Given the description of an element on the screen output the (x, y) to click on. 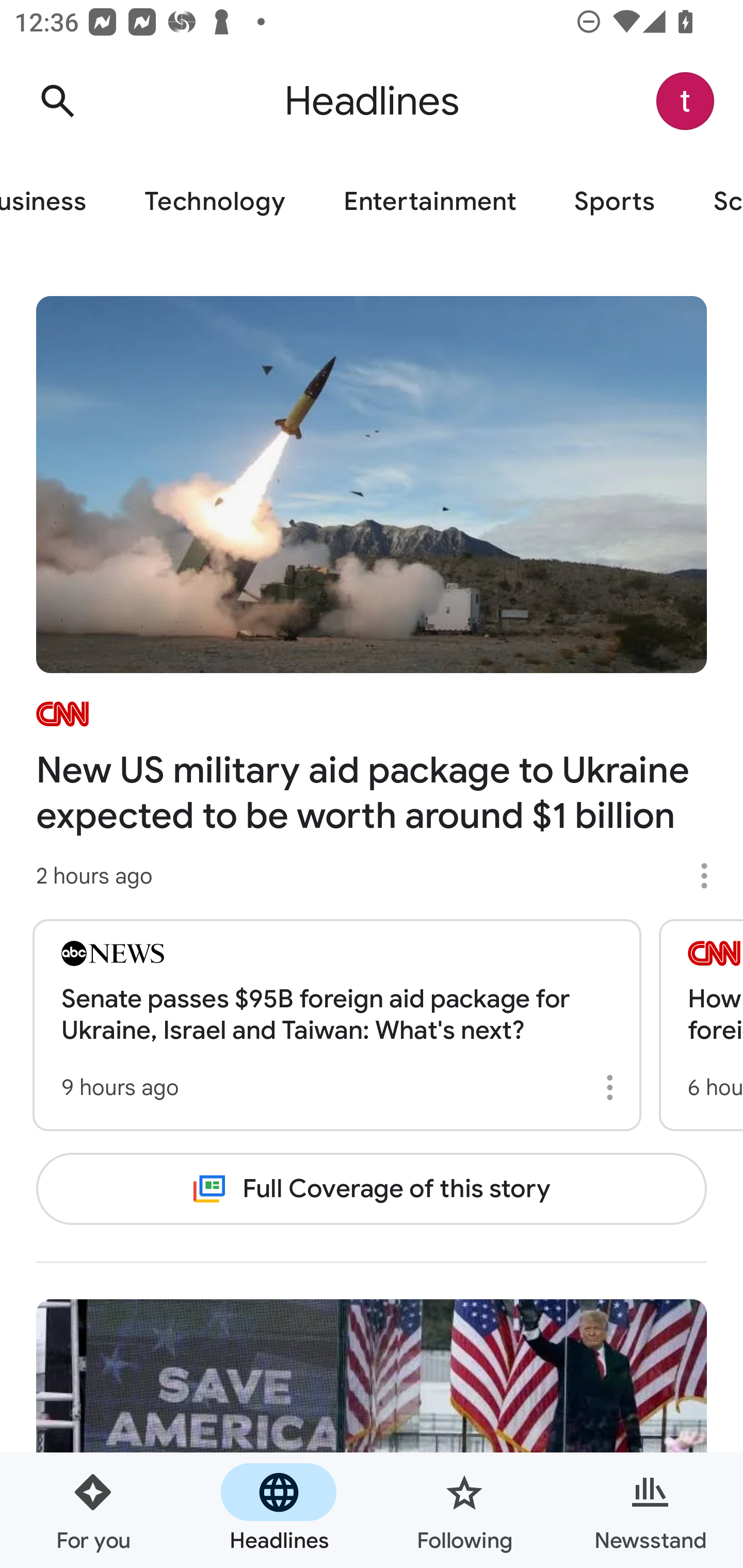
Search (57, 100)
Technology (214, 202)
Entertainment (429, 202)
Sports (614, 202)
More options (711, 875)
More options (613, 1086)
Full Coverage of this story (371, 1188)
For you (92, 1509)
Headlines (278, 1509)
Following (464, 1509)
Newsstand (650, 1509)
